Given the description of an element on the screen output the (x, y) to click on. 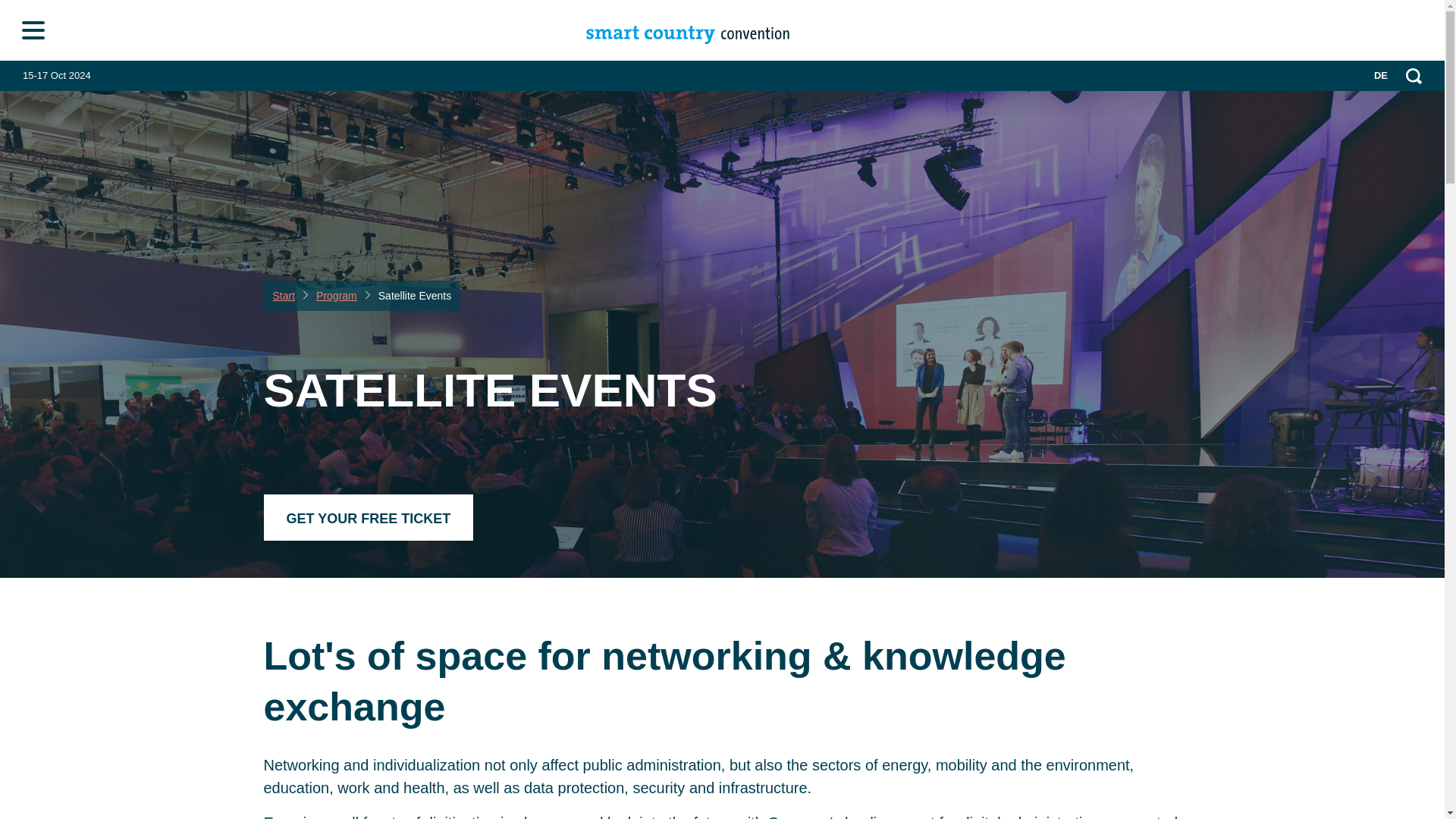
To Main Content (36, 26)
